Given the description of an element on the screen output the (x, y) to click on. 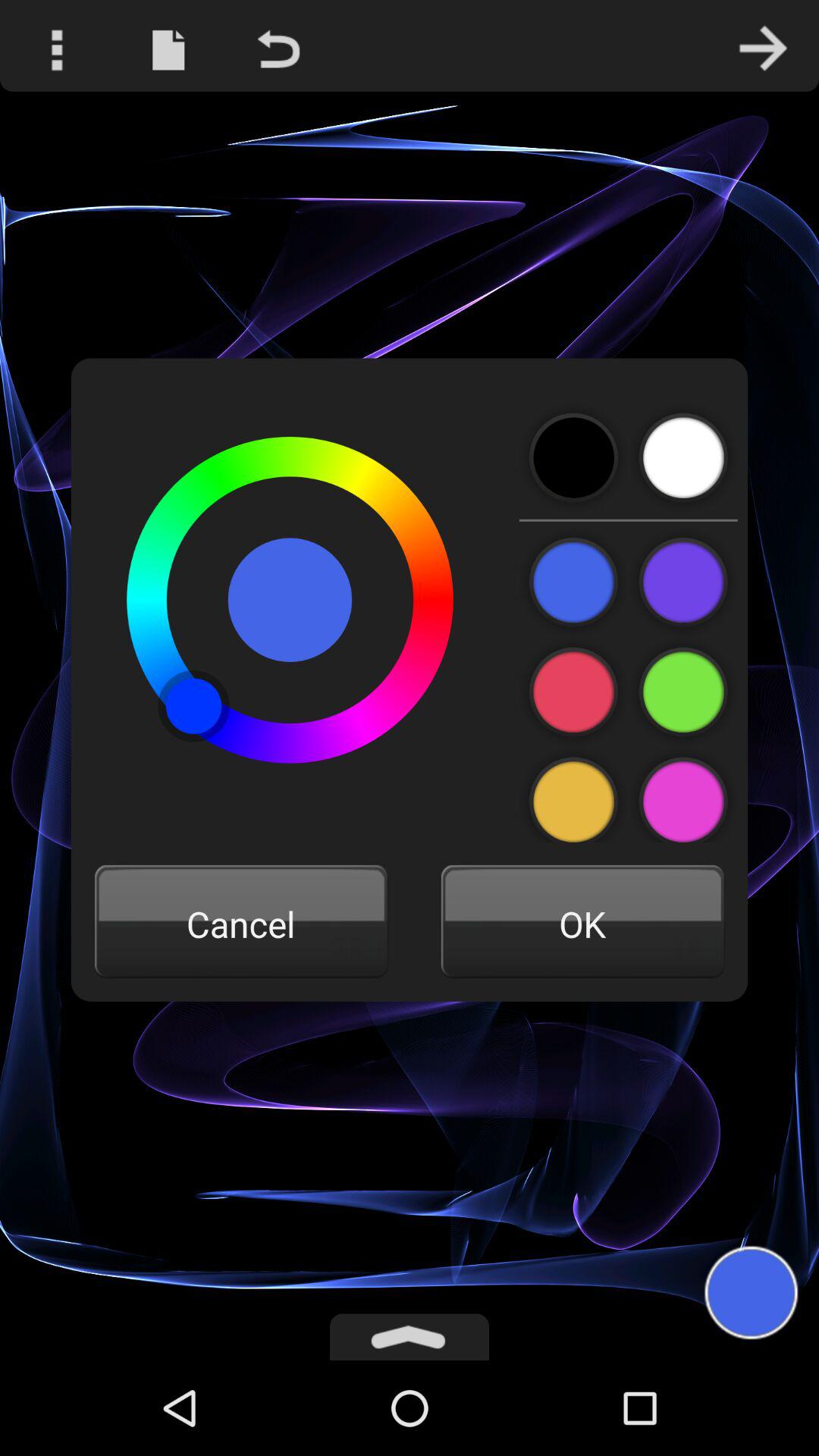
select color (574, 582)
